Given the description of an element on the screen output the (x, y) to click on. 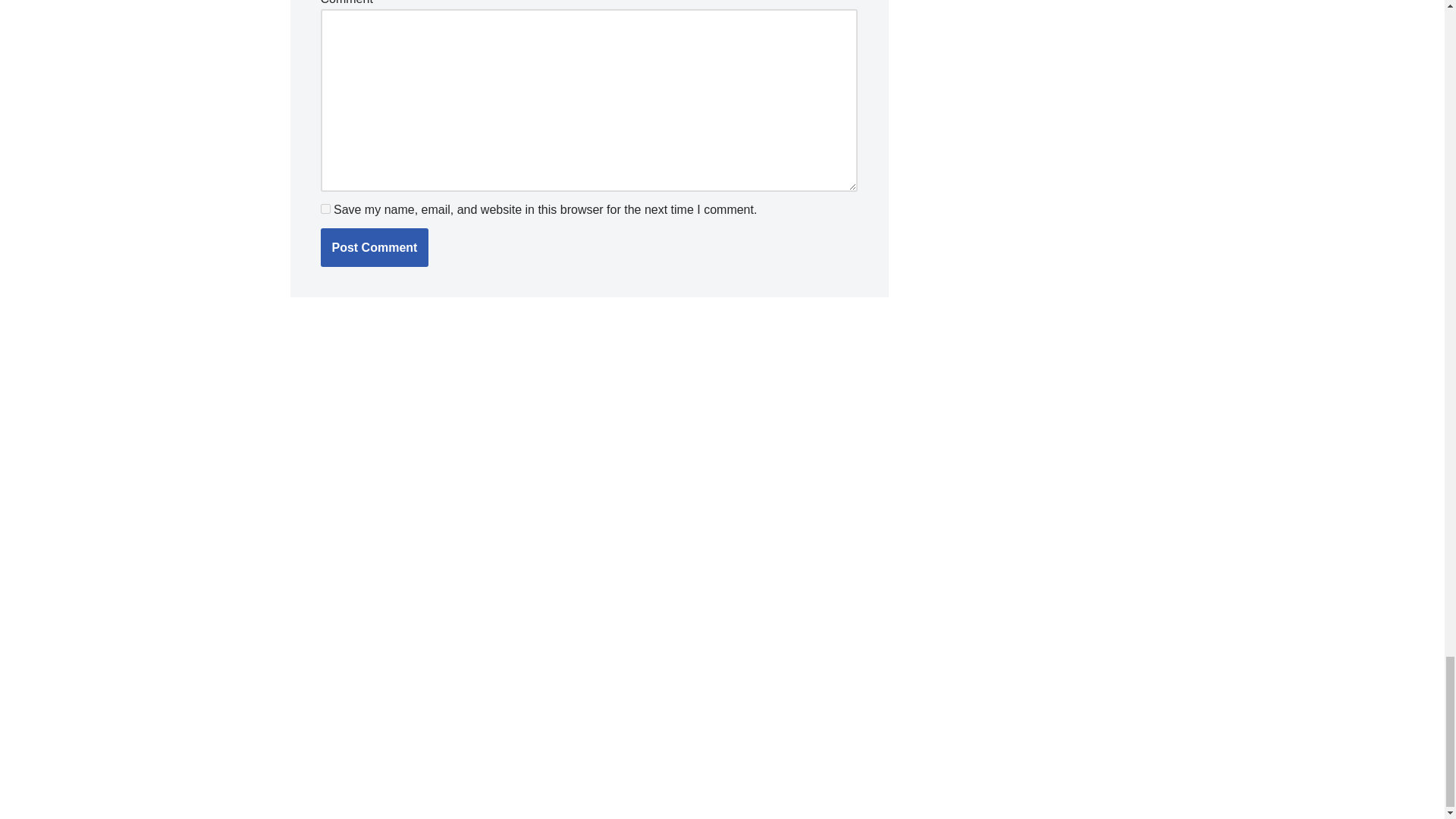
Post Comment (374, 247)
yes (325, 208)
